Given the description of an element on the screen output the (x, y) to click on. 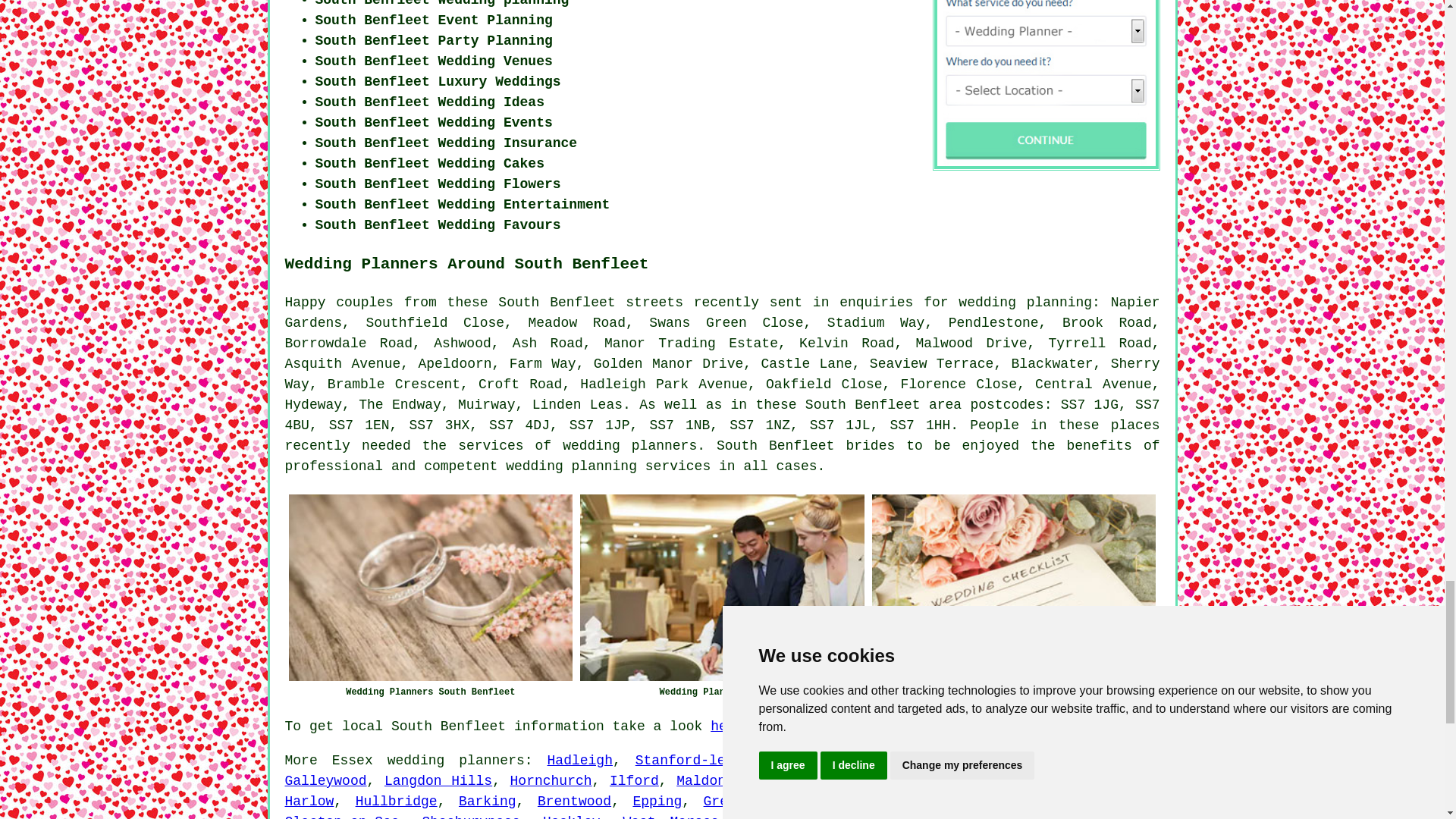
Wedding Planning South Benfleet UK (1014, 586)
Wedding Planners South Benfleet (430, 587)
Wedding Planner Near Me South Benfleet Essex (721, 587)
